Given the description of an element on the screen output the (x, y) to click on. 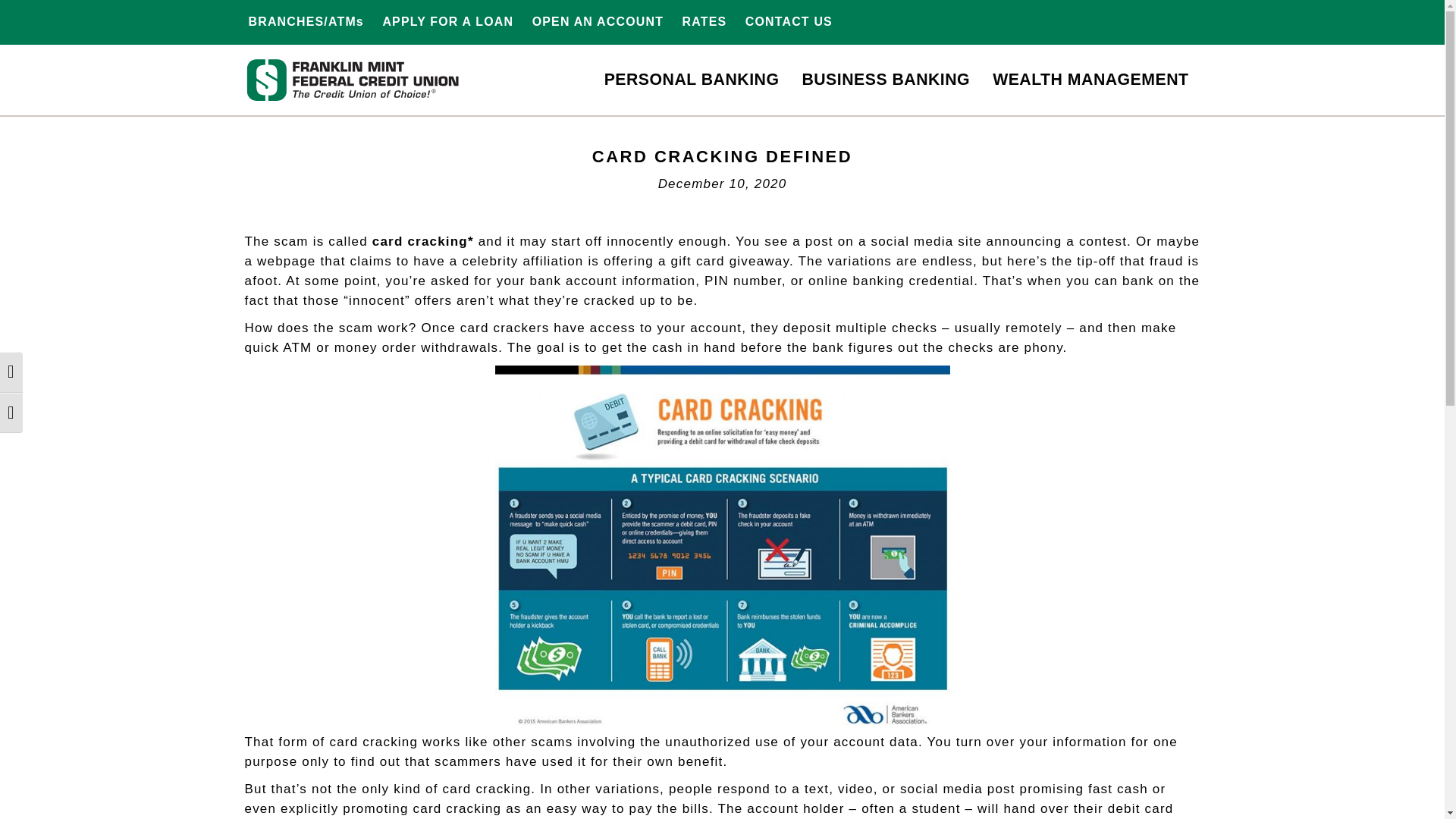
PERSONAL BANKING (691, 79)
OPEN AN ACCOUNT (597, 21)
CONTACT US (788, 21)
RATES (721, 81)
APPLY FOR A LOAN (704, 21)
